Given the description of an element on the screen output the (x, y) to click on. 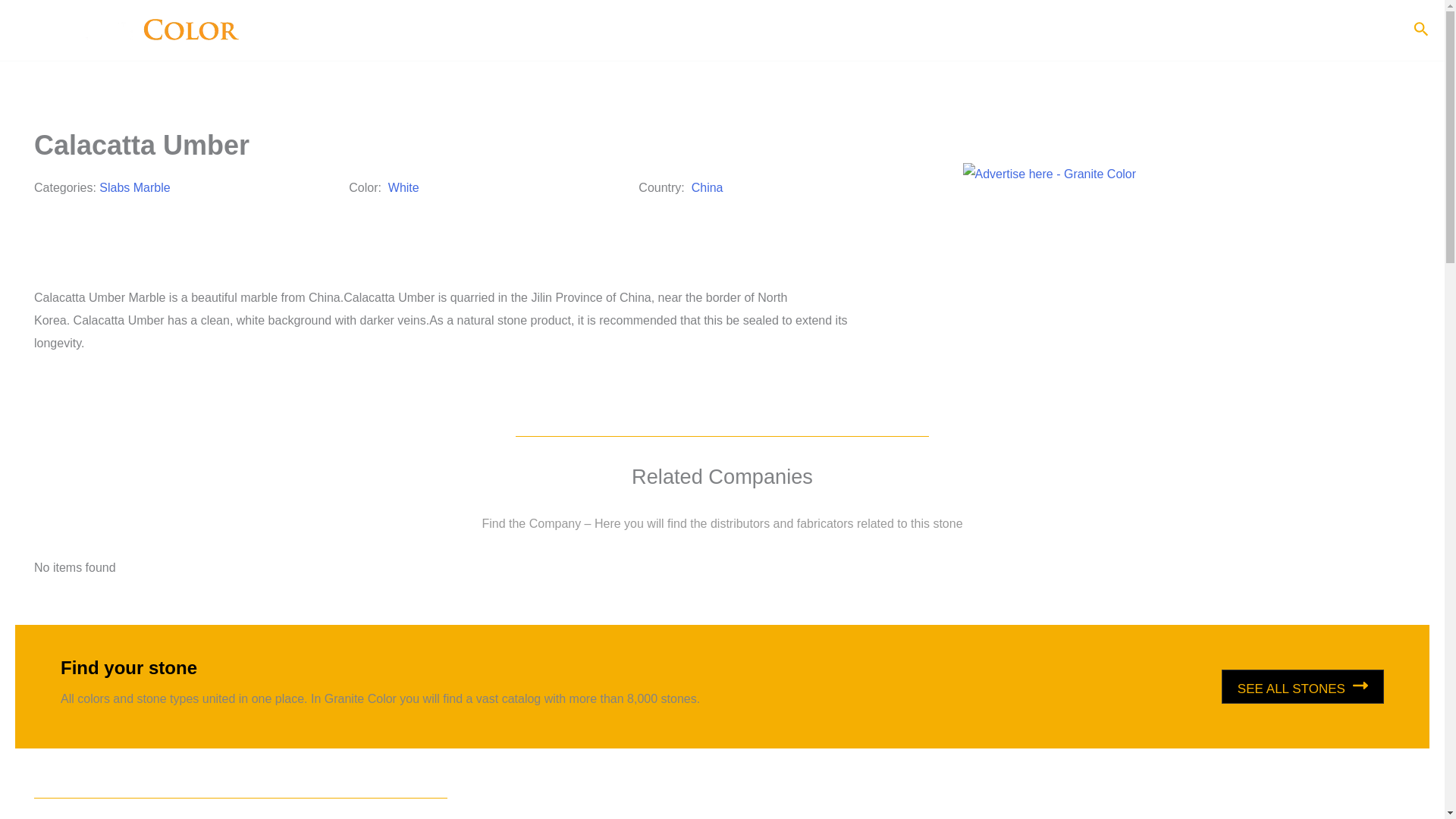
All Companies (1171, 30)
About us (989, 30)
Home (926, 30)
All Stones (1072, 30)
Events (1253, 30)
